Given the description of an element on the screen output the (x, y) to click on. 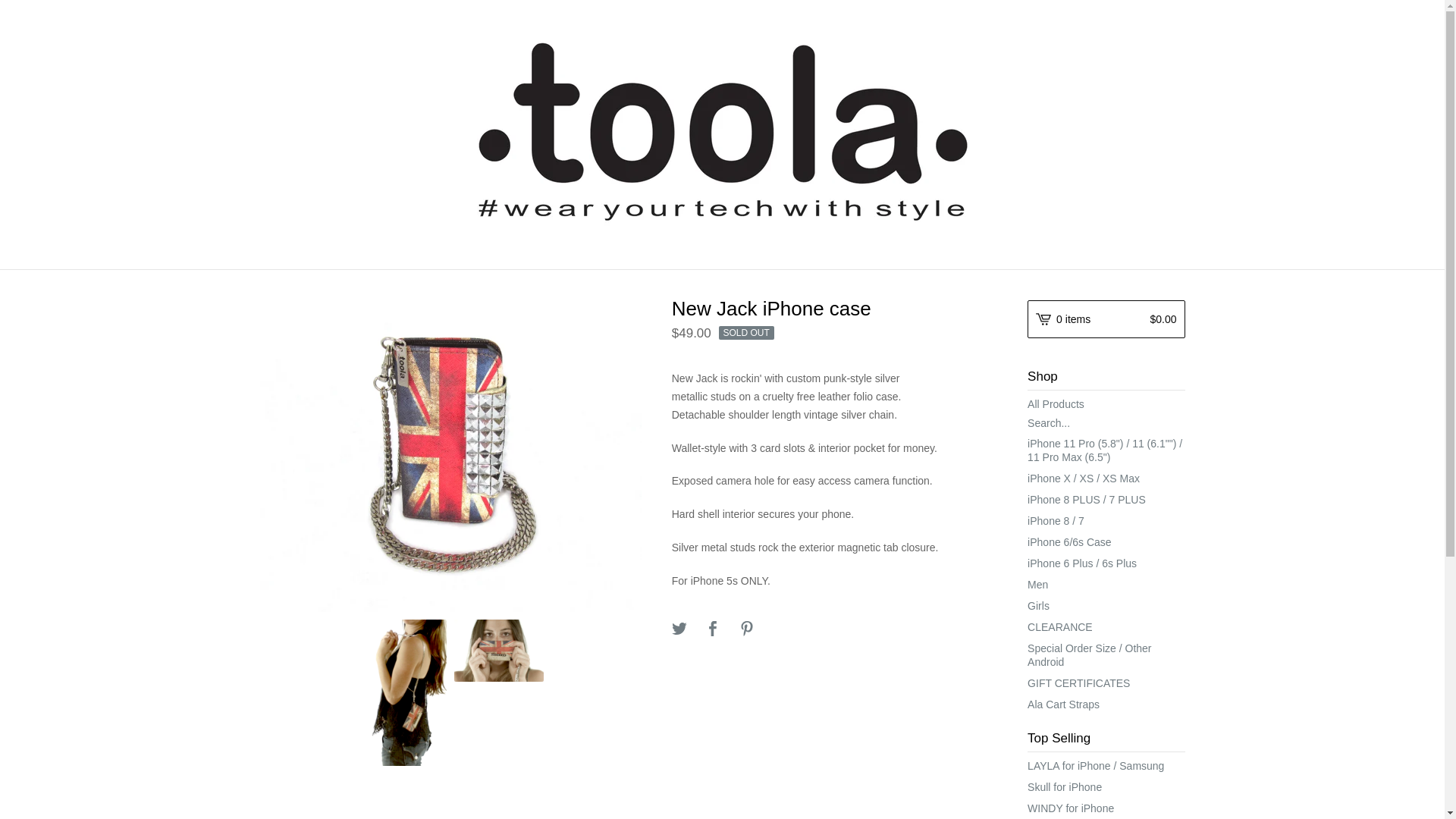
View Girls (1106, 605)
CLEARANCE (1106, 627)
View Ala Cart Straps (1106, 703)
TOOLAstyle (721, 132)
View Men (1106, 584)
GIFT CERTIFICATES (1106, 682)
View CLEARANCE (1106, 627)
All Products (1106, 403)
Ala Cart Straps (1106, 703)
Girls (1106, 605)
